Given the description of an element on the screen output the (x, y) to click on. 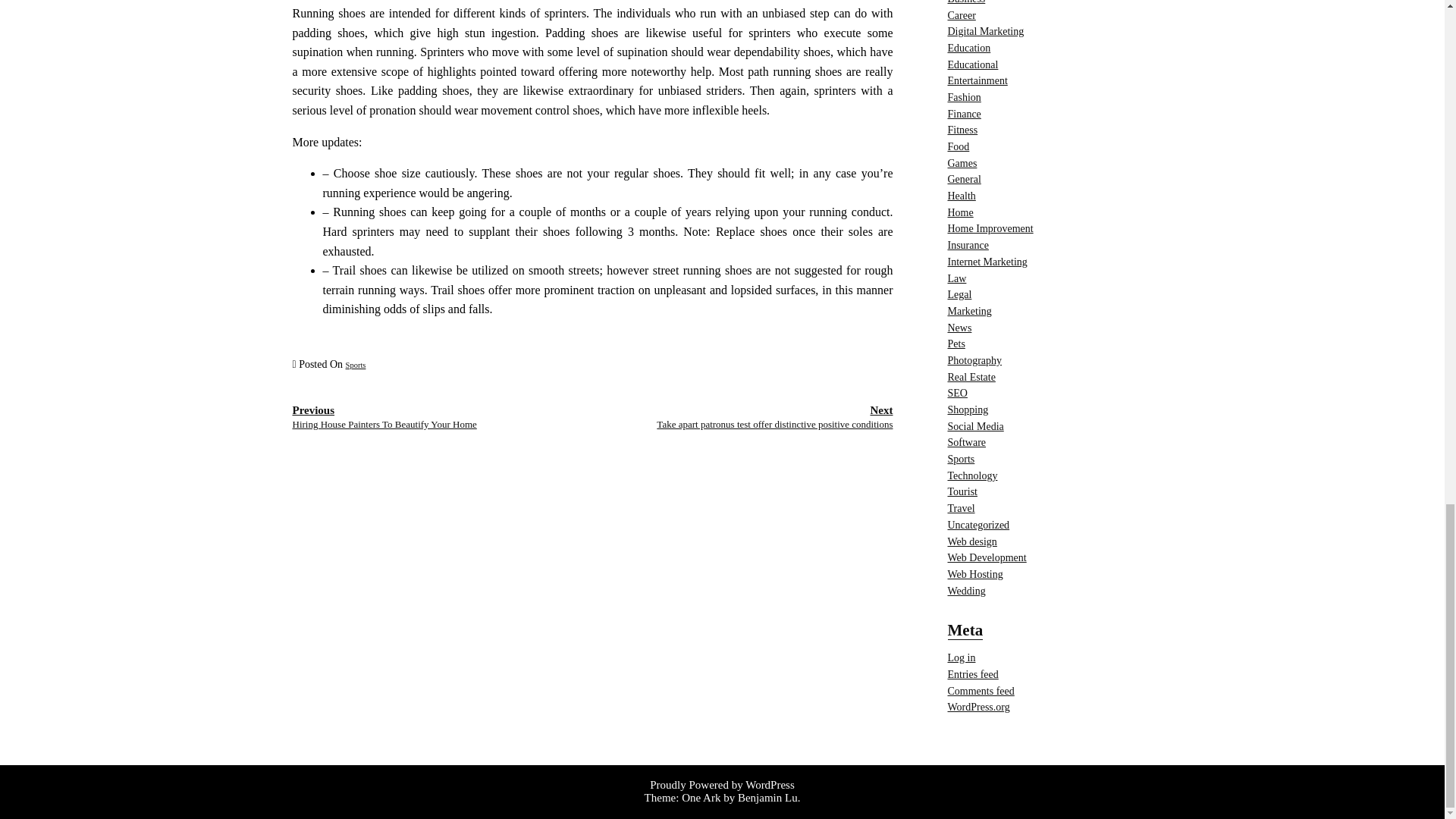
Health (961, 195)
Internet Marketing (987, 261)
Business (966, 2)
Career (384, 416)
Digital Marketing (961, 14)
Fitness (986, 30)
General (962, 129)
Food (964, 179)
